Given the description of an element on the screen output the (x, y) to click on. 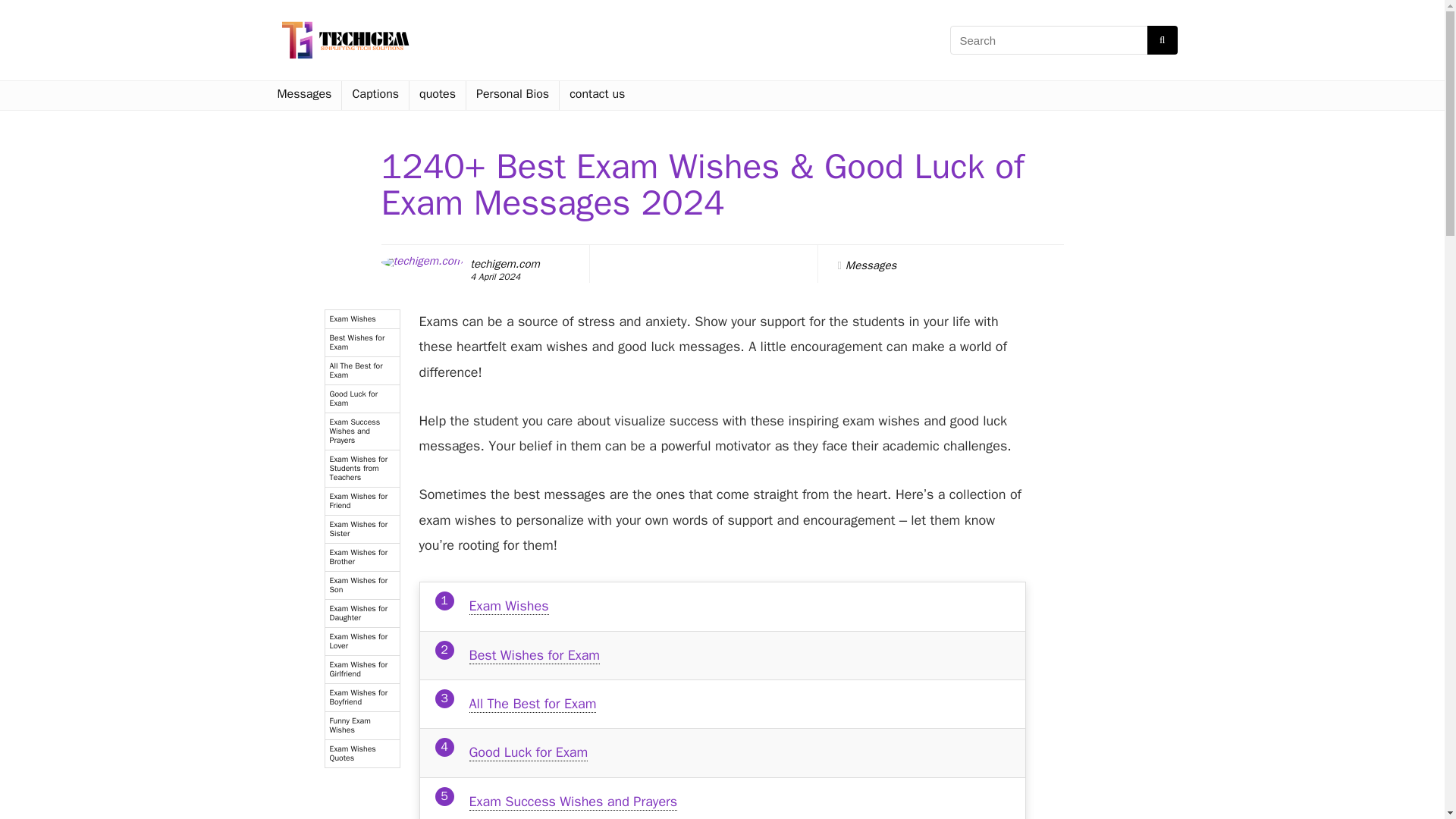
Messages (870, 264)
Messages (303, 95)
Exam Wishes for Boyfriend (361, 697)
Good Luck for Exam (361, 398)
Exam Wishes for Brother (361, 557)
All The Best for Exam (531, 703)
Captions (375, 95)
Exam Wishes for Students from Teachers (361, 468)
Exam Wishes Quotes (361, 754)
Exam Wishes for Son (361, 585)
Exam Wishes (508, 606)
contact us (596, 95)
techigem.com (505, 264)
Exam Success Wishes and Prayers (361, 431)
Exam Wishes for Lover (361, 642)
